Given the description of an element on the screen output the (x, y) to click on. 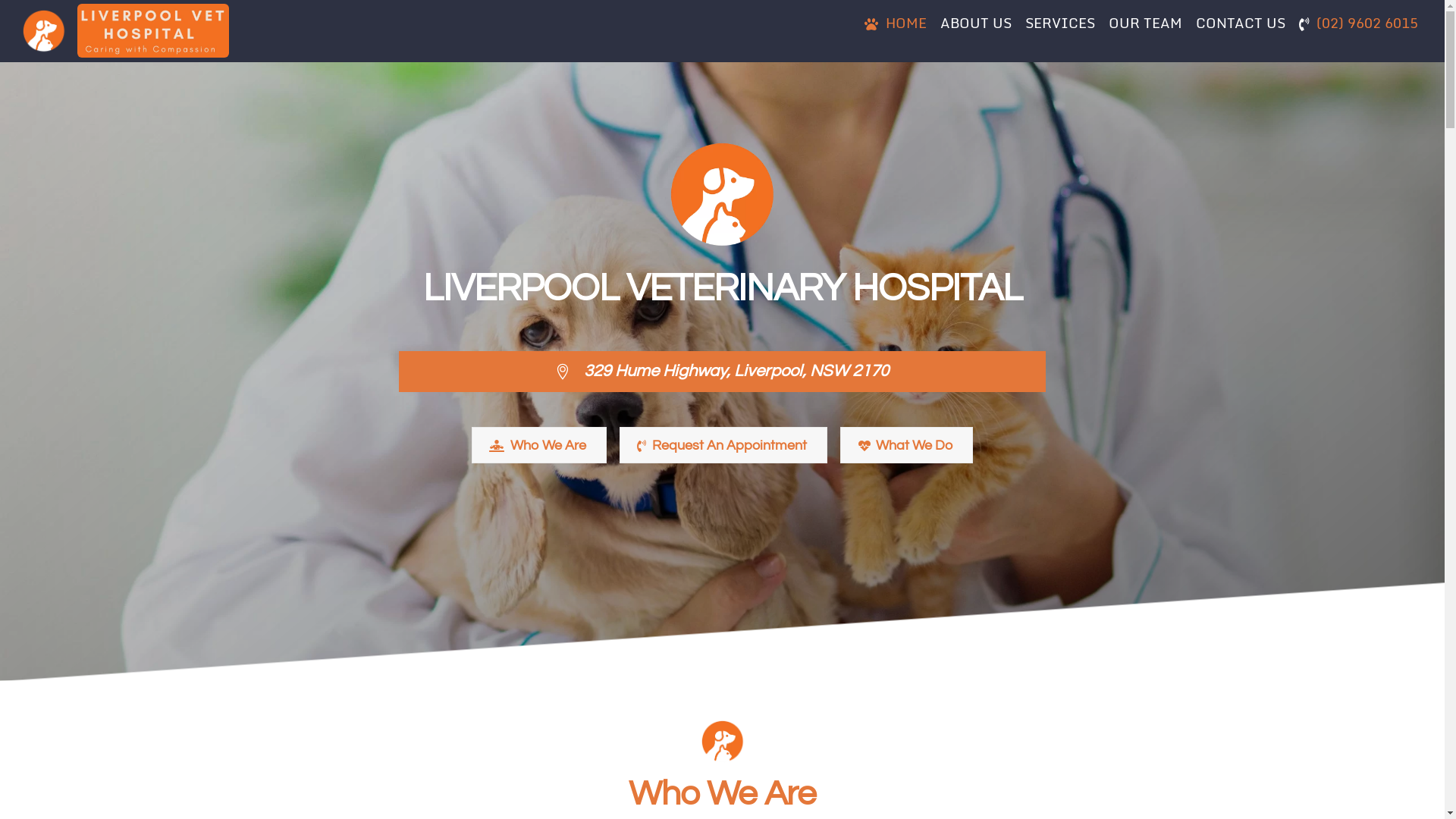
lvh logo Element type: hover (43, 30)
Request An Appointment Element type: text (723, 445)
Liverpool Veterinary Hospital Element type: hover (43, 28)
CONTACT US Element type: text (1240, 22)
HOME Element type: text (895, 22)
What We Do Element type: text (906, 445)
LIVERPOOL VETERINARY HOSPITAL Element type: hover (722, 194)
OUR TEAM Element type: text (1145, 22)
ABOUT US Element type: text (975, 22)
(02) 9602 6015 Element type: text (1358, 22)
Who We Are Element type: text (538, 445)
SERVICES Element type: text (1059, 22)
lvh logo Element type: hover (721, 741)
